Given the description of an element on the screen output the (x, y) to click on. 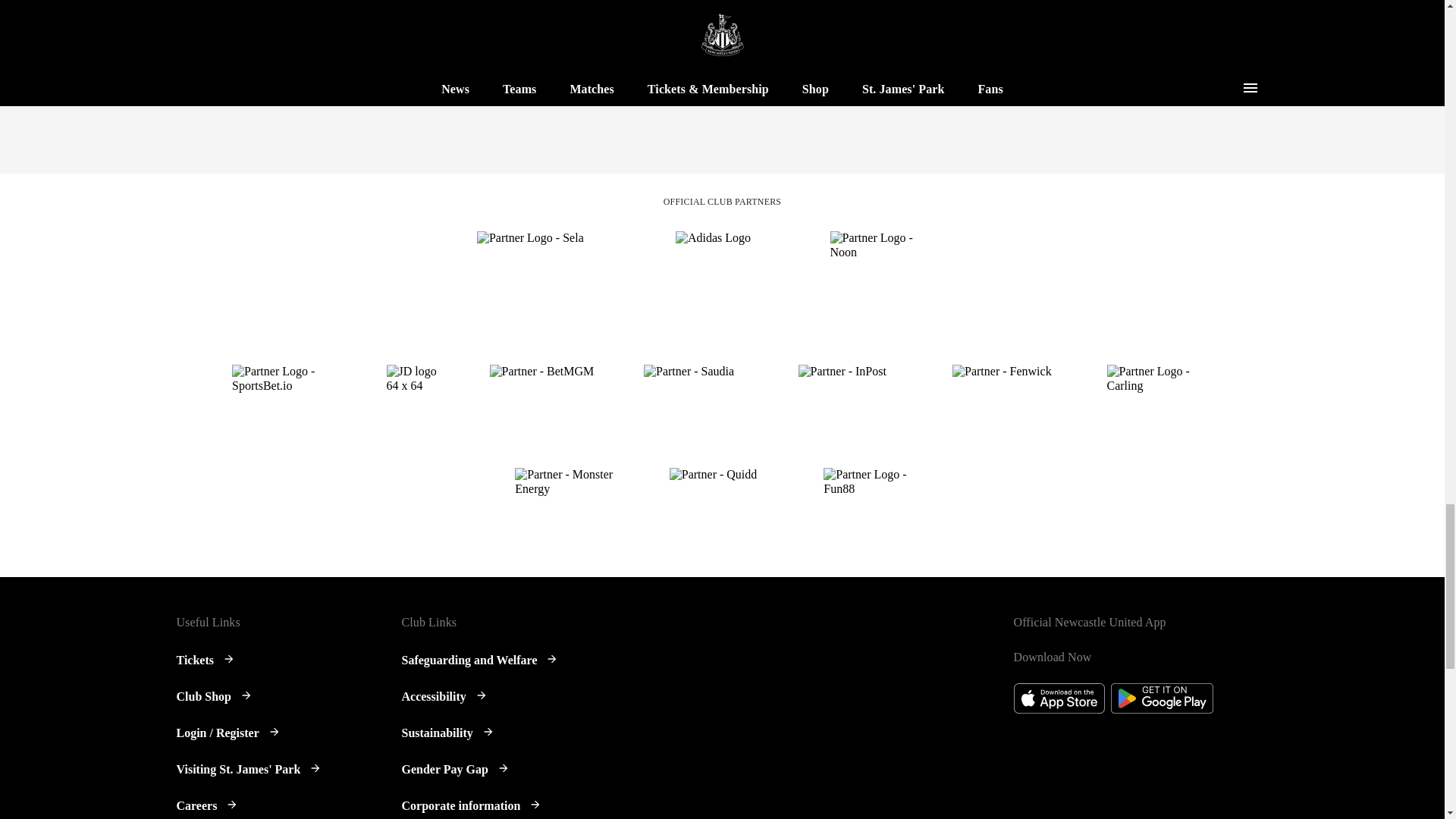
News (879, 2)
Team news: Gordon in from the start against Girona (675, 32)
Metro to run full service on Saturday (1019, 32)
News (535, 2)
News (535, 2)
News (879, 2)
Newcastle United unveils 2024-25 away kit (332, 56)
